Given the description of an element on the screen output the (x, y) to click on. 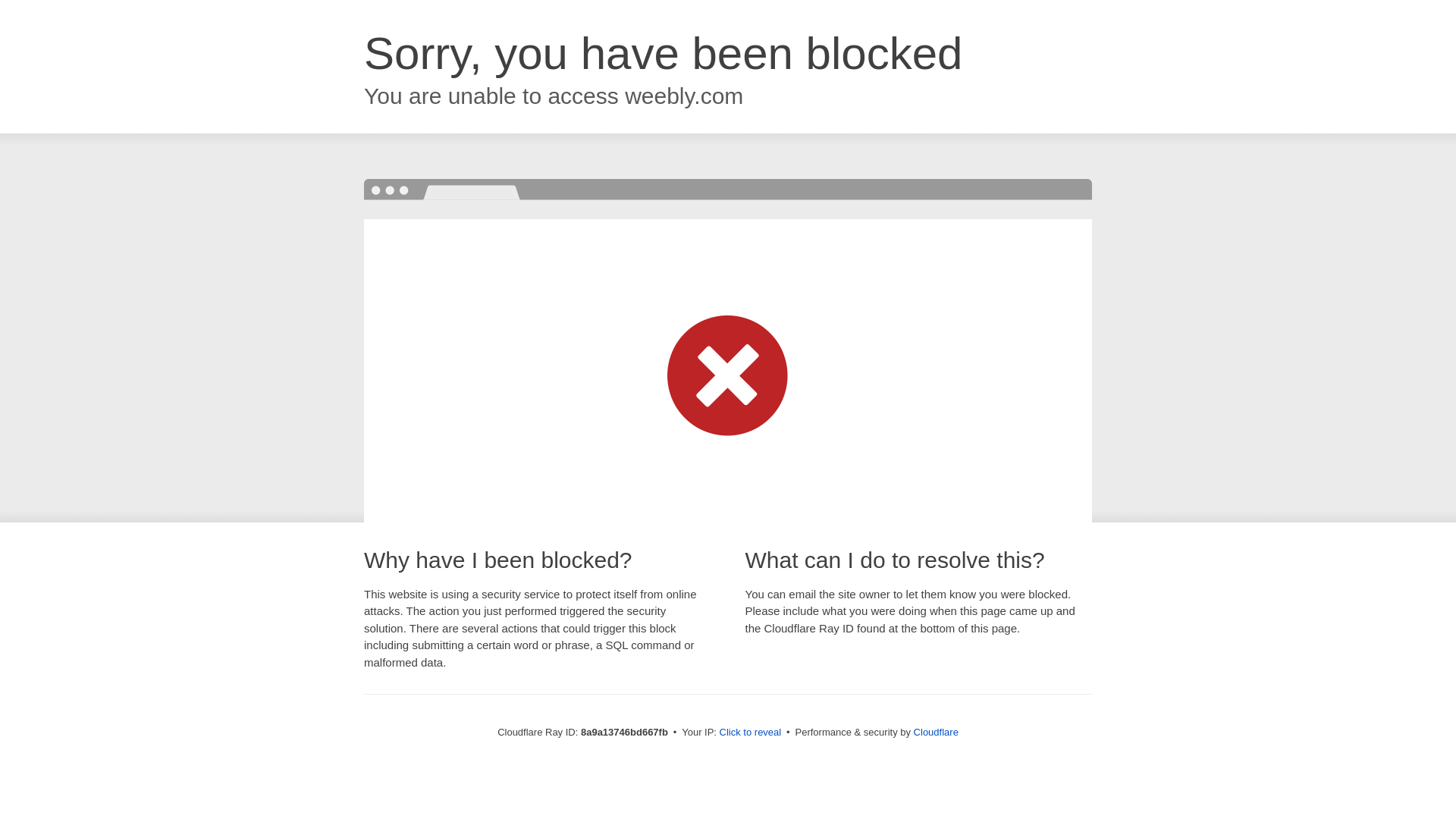
Click to reveal (750, 732)
Cloudflare (936, 731)
